Given the description of an element on the screen output the (x, y) to click on. 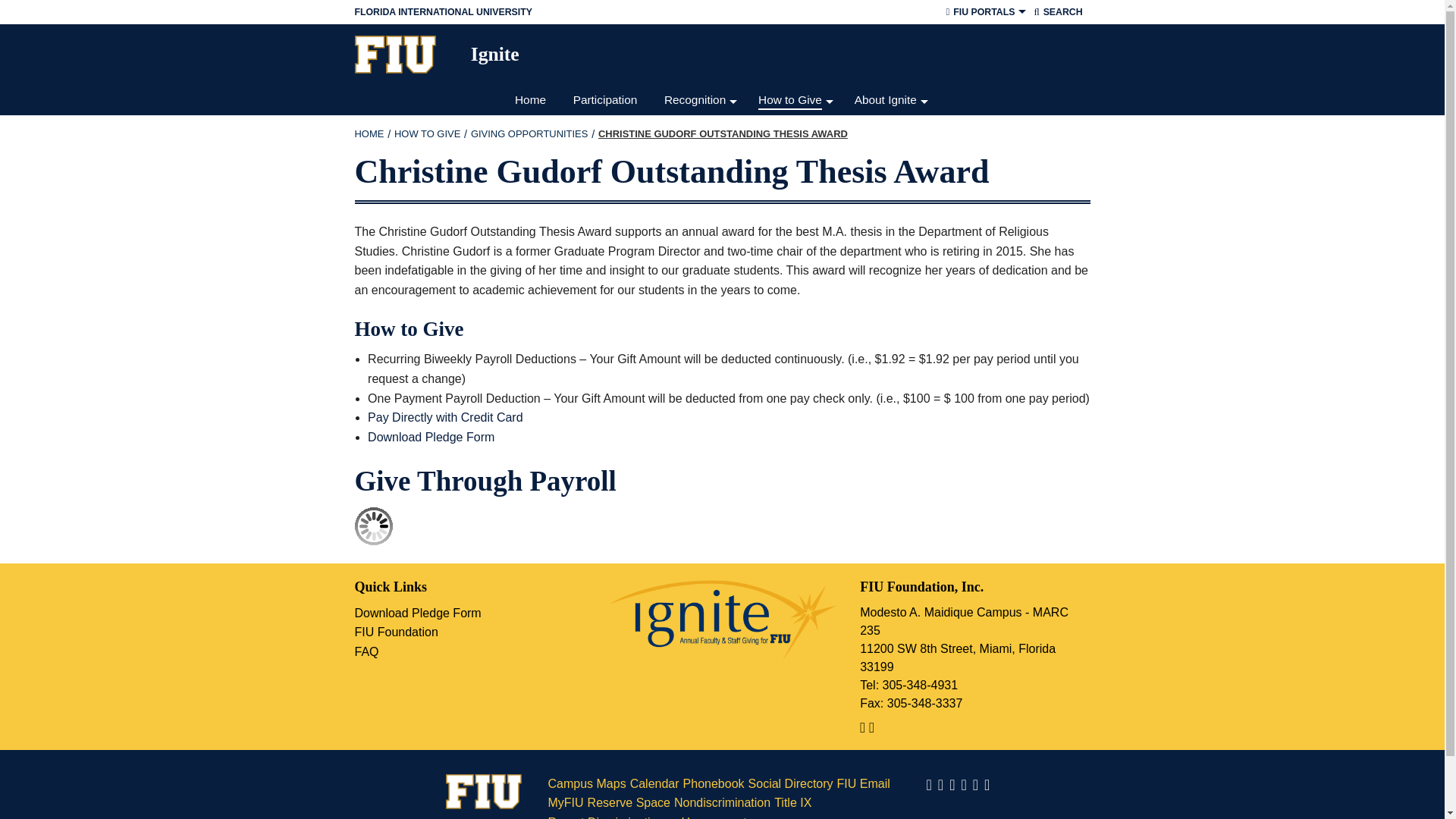
Recognition (700, 100)
Impact Videos (891, 251)
Home (534, 100)
SEARCH (1057, 12)
Participation (608, 100)
Giving Opportunities (529, 133)
Flame Award (700, 221)
Unit Awards (700, 160)
Planned Giving (796, 160)
Giving Opportunities (796, 130)
How to Give (796, 100)
About Ignite (891, 100)
MyFIU (984, 39)
FLORIDA INTERNATIONAL UNIVERSITY (601, 12)
FIU PORTALS (984, 12)
